Given the description of an element on the screen output the (x, y) to click on. 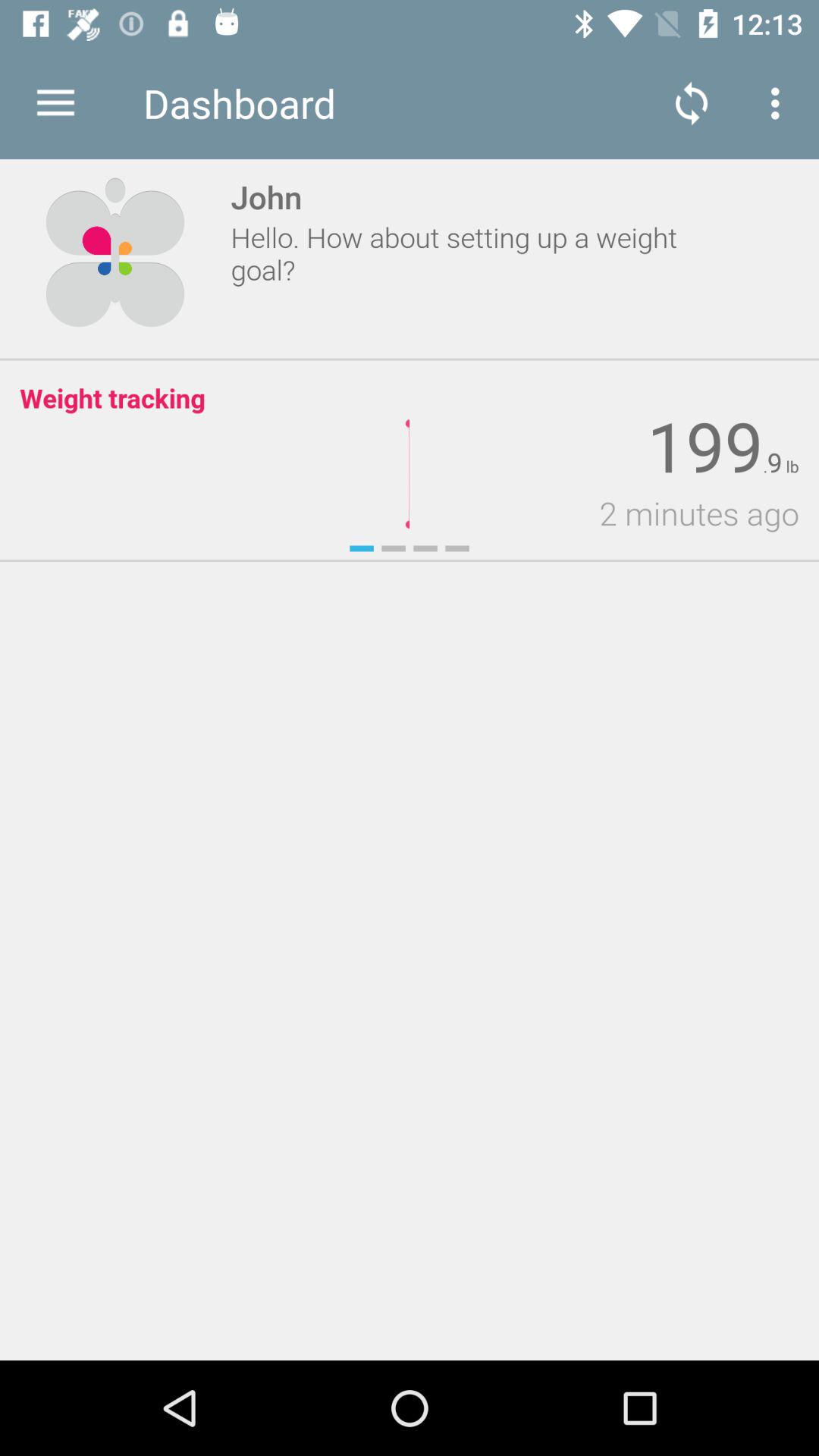
launch icon above 2 minutes ago (790, 466)
